Given the description of an element on the screen output the (x, y) to click on. 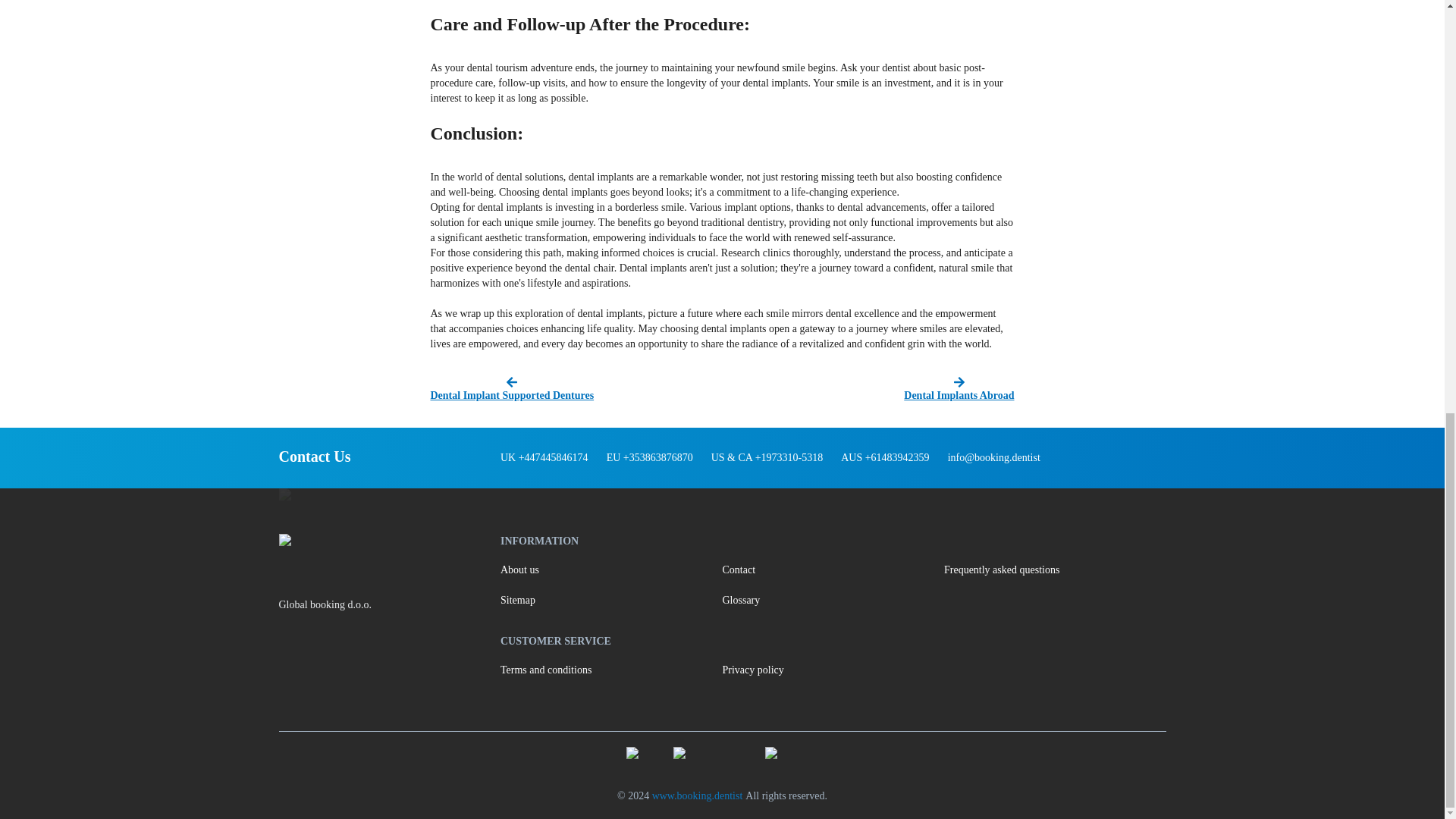
Dental Implants Abroad (869, 389)
Sitemap (611, 600)
Frequently asked questions (1054, 570)
Terms and conditions (611, 670)
About us (611, 570)
Contact (832, 570)
Glossary (832, 600)
Privacy policy (832, 670)
Dental Implant Supported Dentures (573, 389)
www.booking.dentist (697, 795)
